Given the description of an element on the screen output the (x, y) to click on. 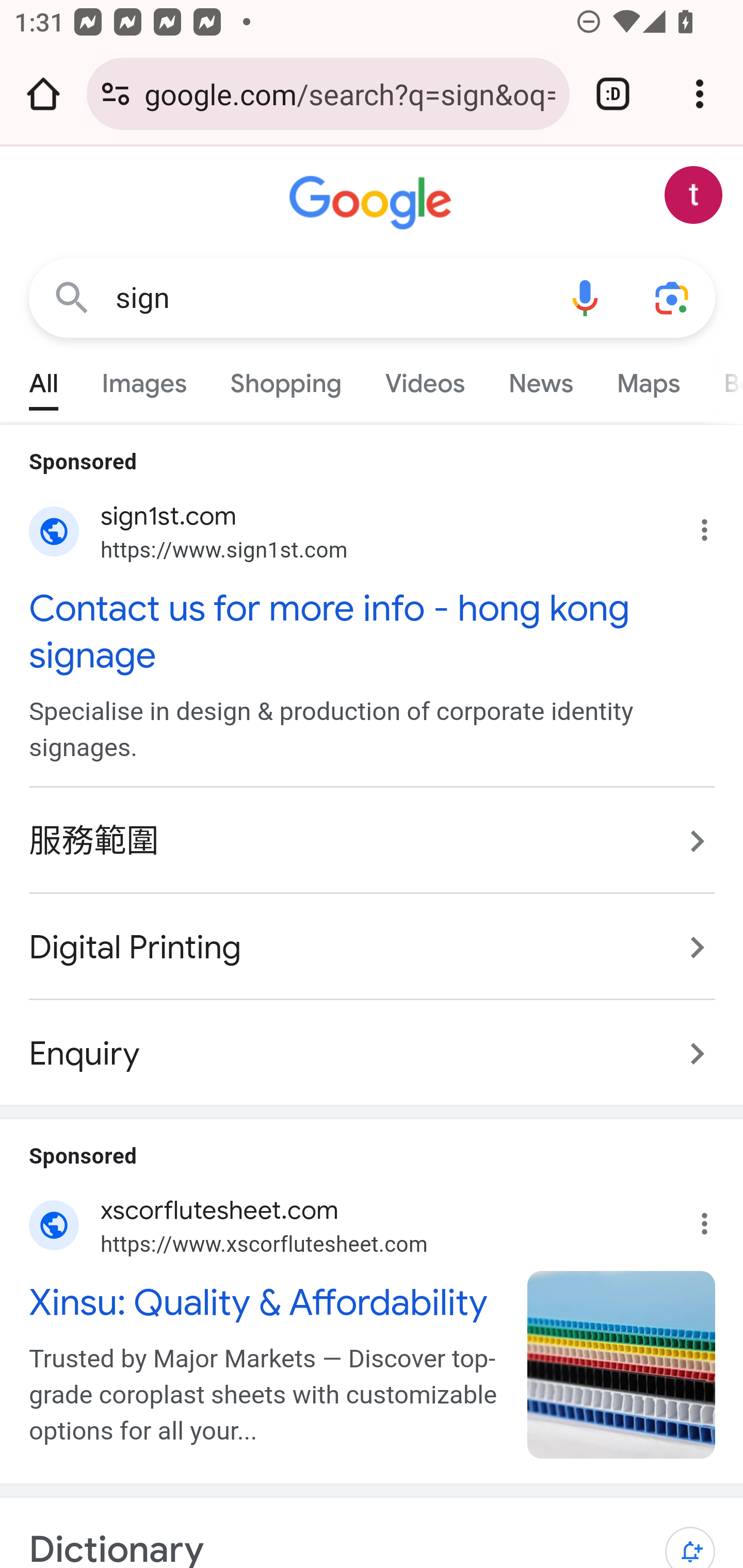
Open the home page (43, 93)
Connection is secure (115, 93)
Switch or close tabs (612, 93)
Customize and control Google Chrome (699, 93)
Google (372, 203)
Google Search (71, 296)
Search using your camera or photos (672, 296)
sign (328, 297)
Images (144, 378)
Shopping (285, 378)
Videos (424, 378)
News (540, 378)
Maps (647, 378)
Why this ad? (714, 525)
Contact us for more info - hong kong signage (372, 631)
服務範圍 (372, 841)
Digital Printing (372, 948)
Enquiry (372, 1043)
Why this ad? (714, 1218)
Image from xscorflutesheet.com (621, 1363)
Xinsu: Quality & Affordability (266, 1301)
Get notifications about Word of the day (690, 1537)
